Given the description of an element on the screen output the (x, y) to click on. 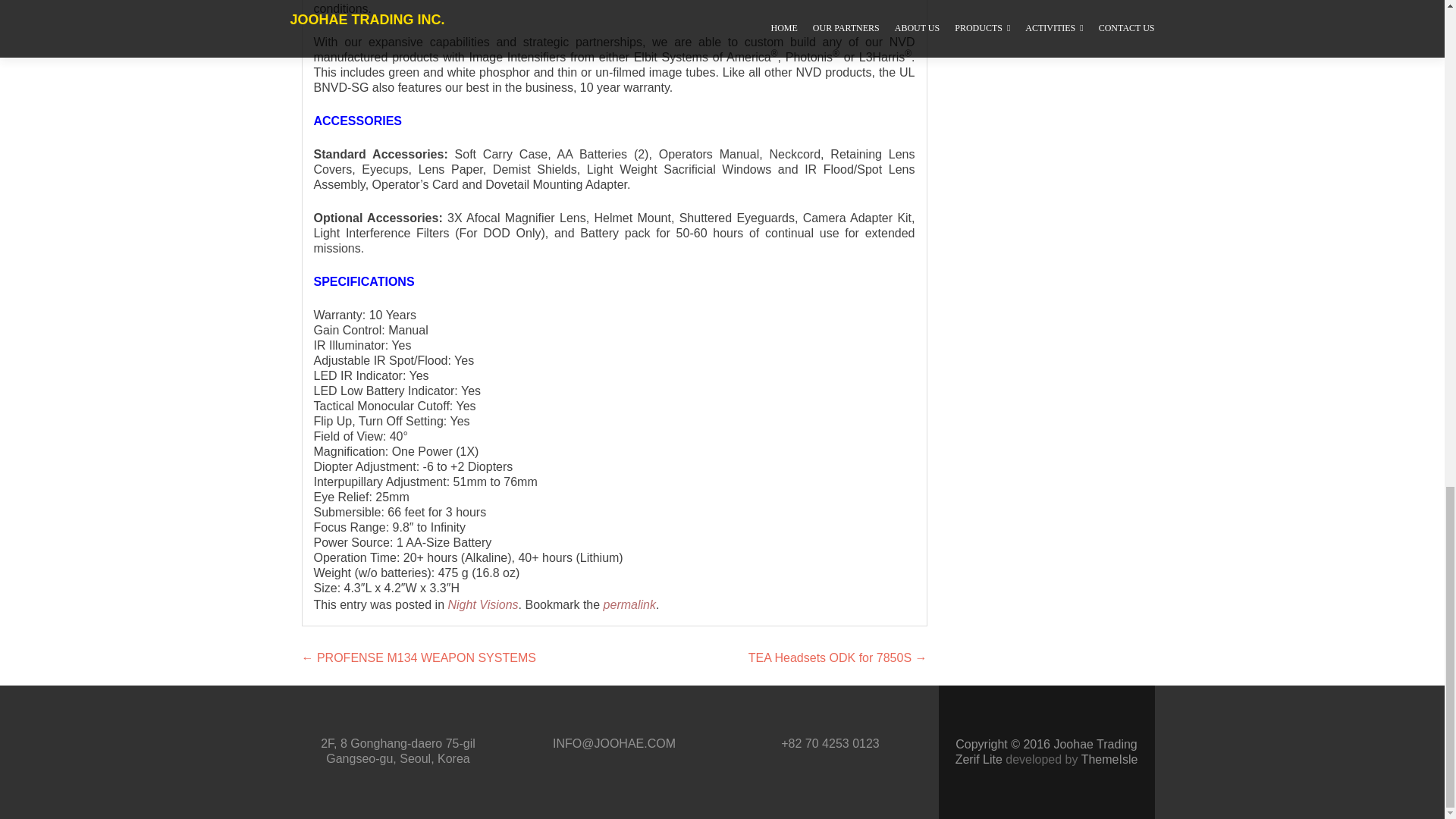
permalink (630, 604)
Night Visions (482, 604)
